Given the description of an element on the screen output the (x, y) to click on. 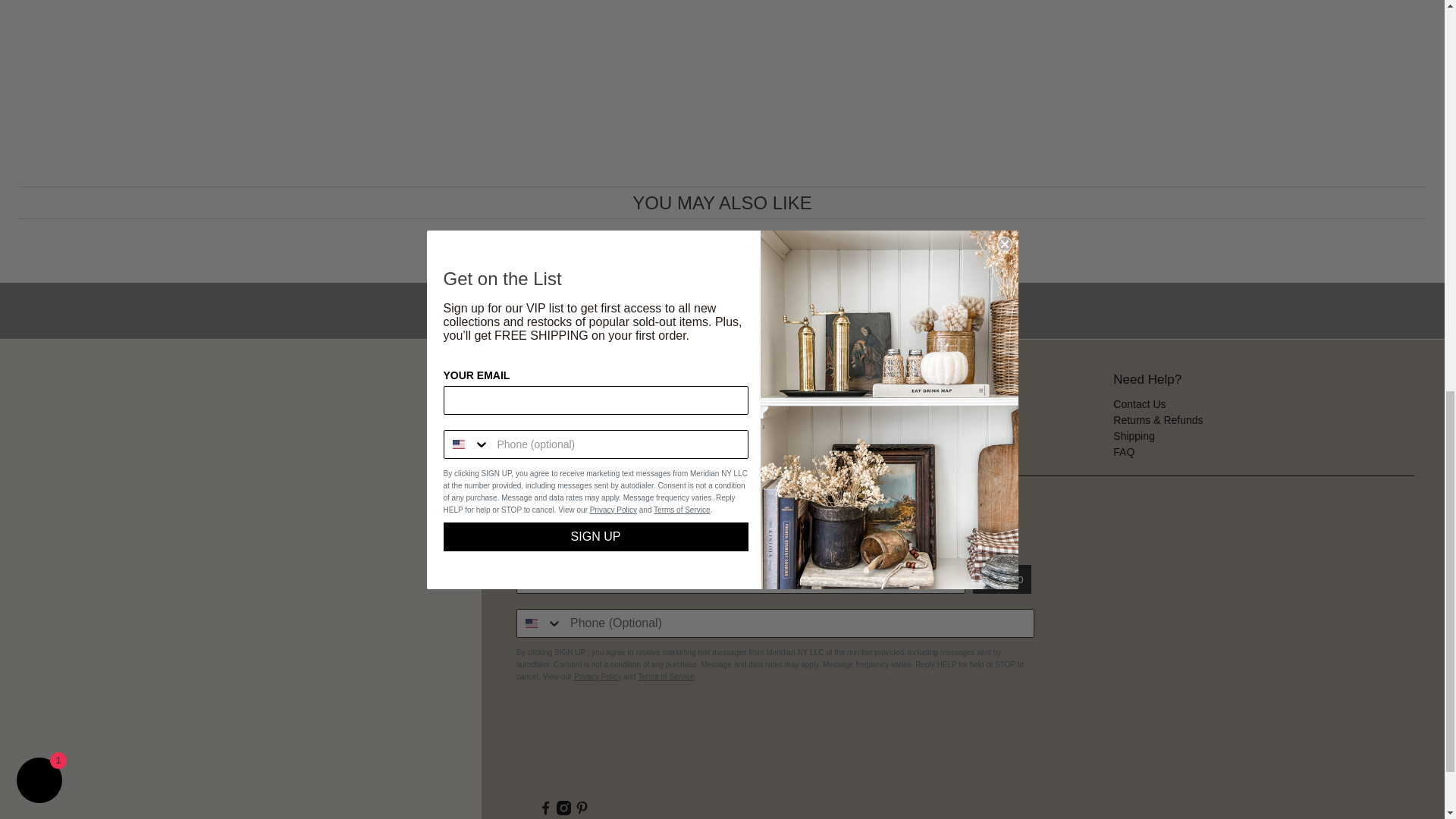
Meridian (569, 744)
Meridian on Pinterest (582, 811)
Meridian on Facebook (545, 811)
Meridian on Instagram (563, 811)
United States (531, 623)
